Given the description of an element on the screen output the (x, y) to click on. 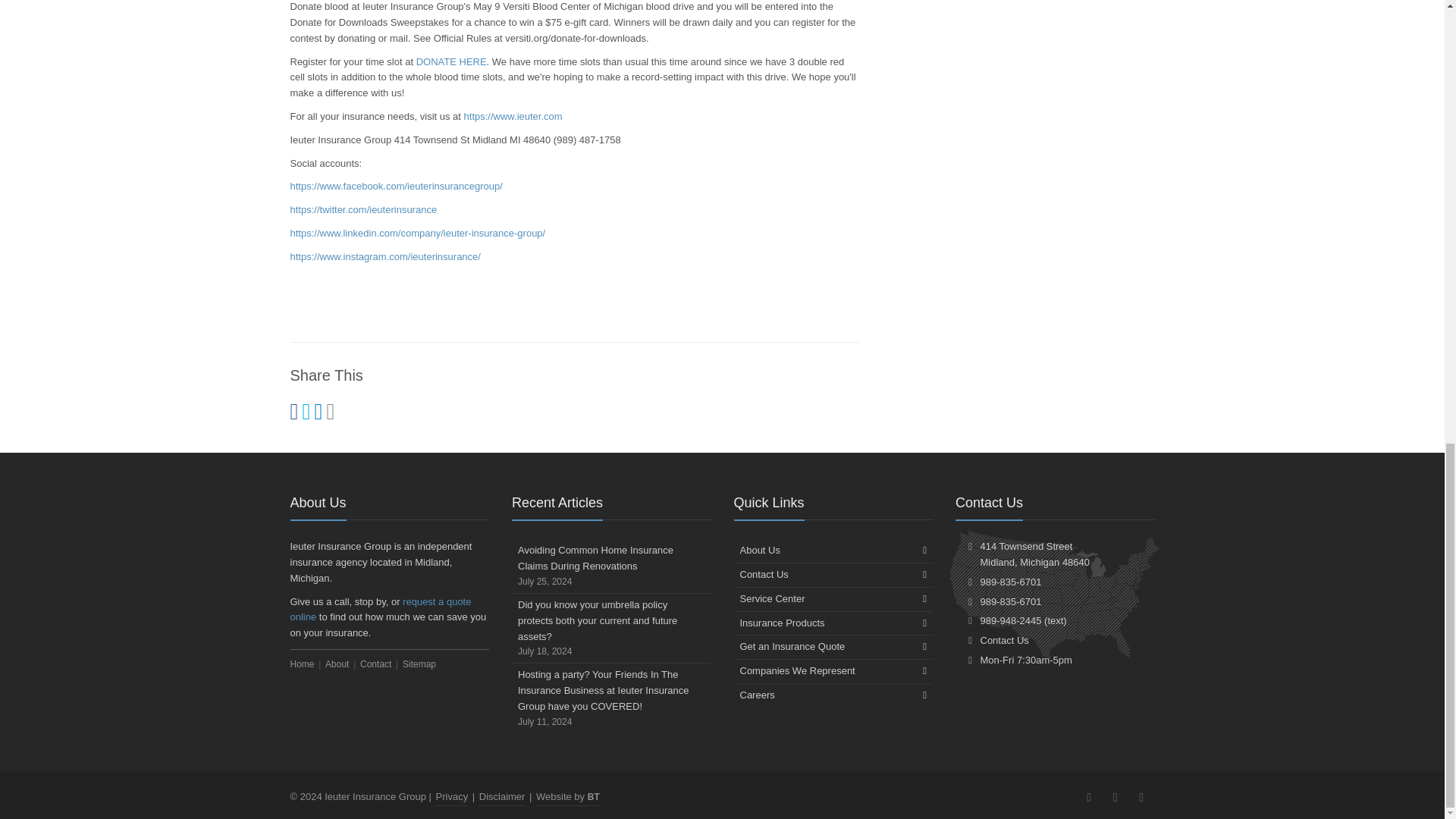
DONATE HERE (451, 61)
